Given the description of an element on the screen output the (x, y) to click on. 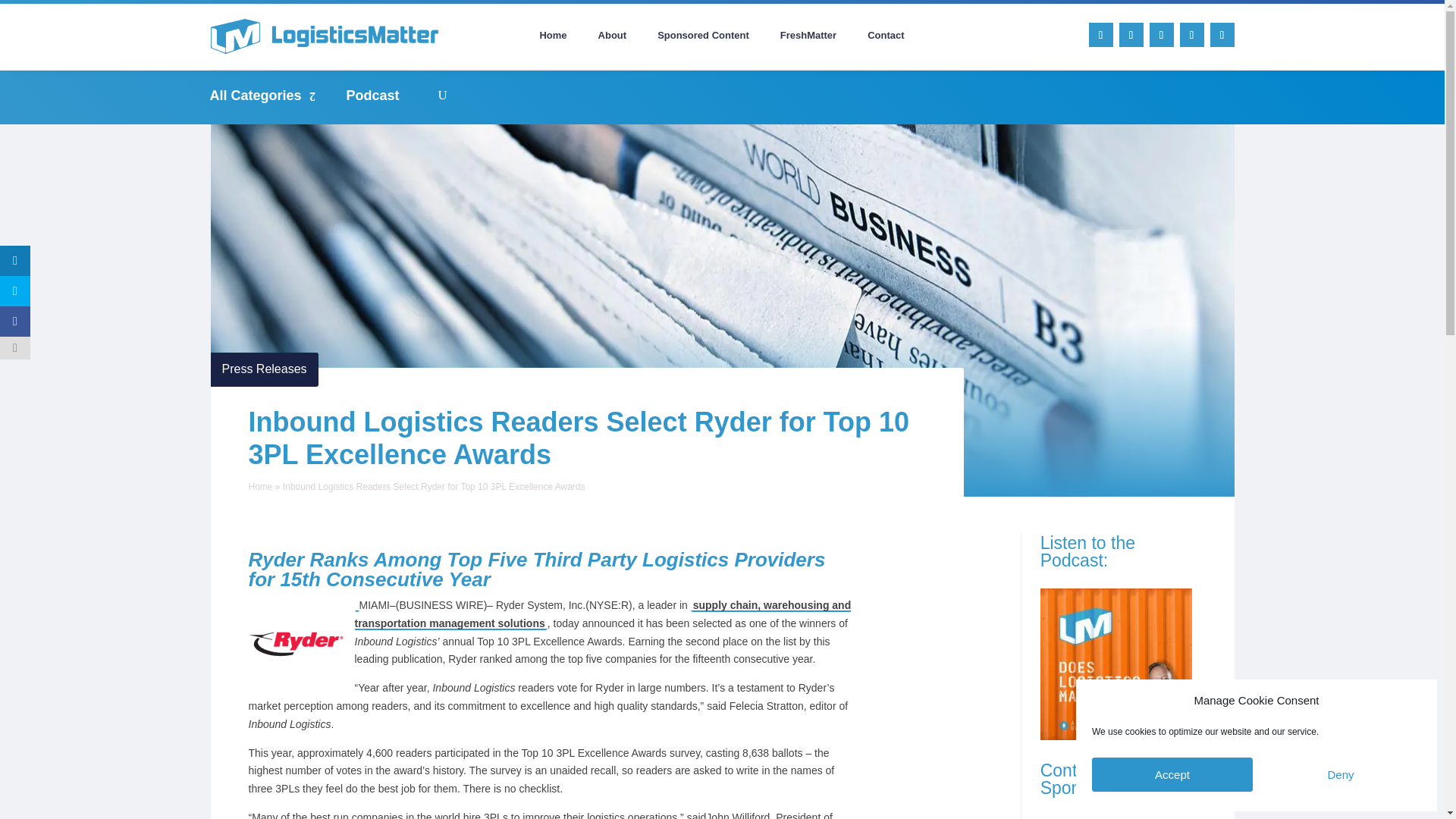
RYDER125 (295, 644)
Follow on Pinterest (1191, 34)
Contact (885, 38)
Follow on Facebook (1161, 34)
FreshMatter (808, 38)
Logisticsmatter-logo (324, 36)
Follow on LinkedIn (1101, 34)
Accept (1172, 774)
All Categories (269, 95)
Sponsored Content (703, 38)
